Given the description of an element on the screen output the (x, y) to click on. 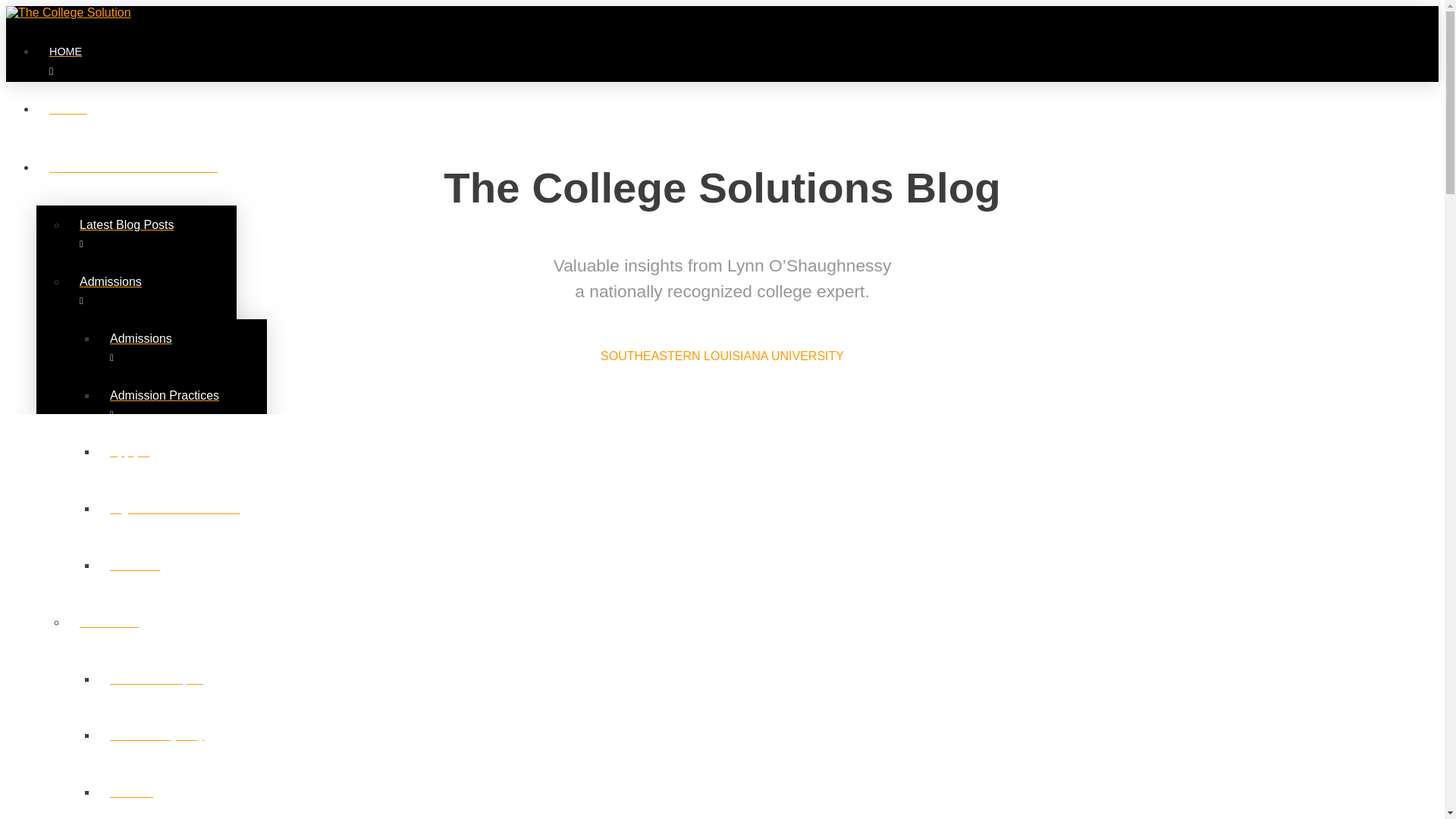
Academic Majors (181, 688)
Admissions (150, 290)
Academic Quality (181, 744)
Admissions (181, 347)
Careers (181, 796)
HOME (551, 60)
ABOUT (551, 118)
THE COLLEGE SOLUTION BLOG (551, 176)
High School Counselors (181, 517)
Latest Blog Posts (150, 233)
Admission Practices (181, 404)
Applying (181, 460)
Academics (150, 631)
